Given the description of an element on the screen output the (x, y) to click on. 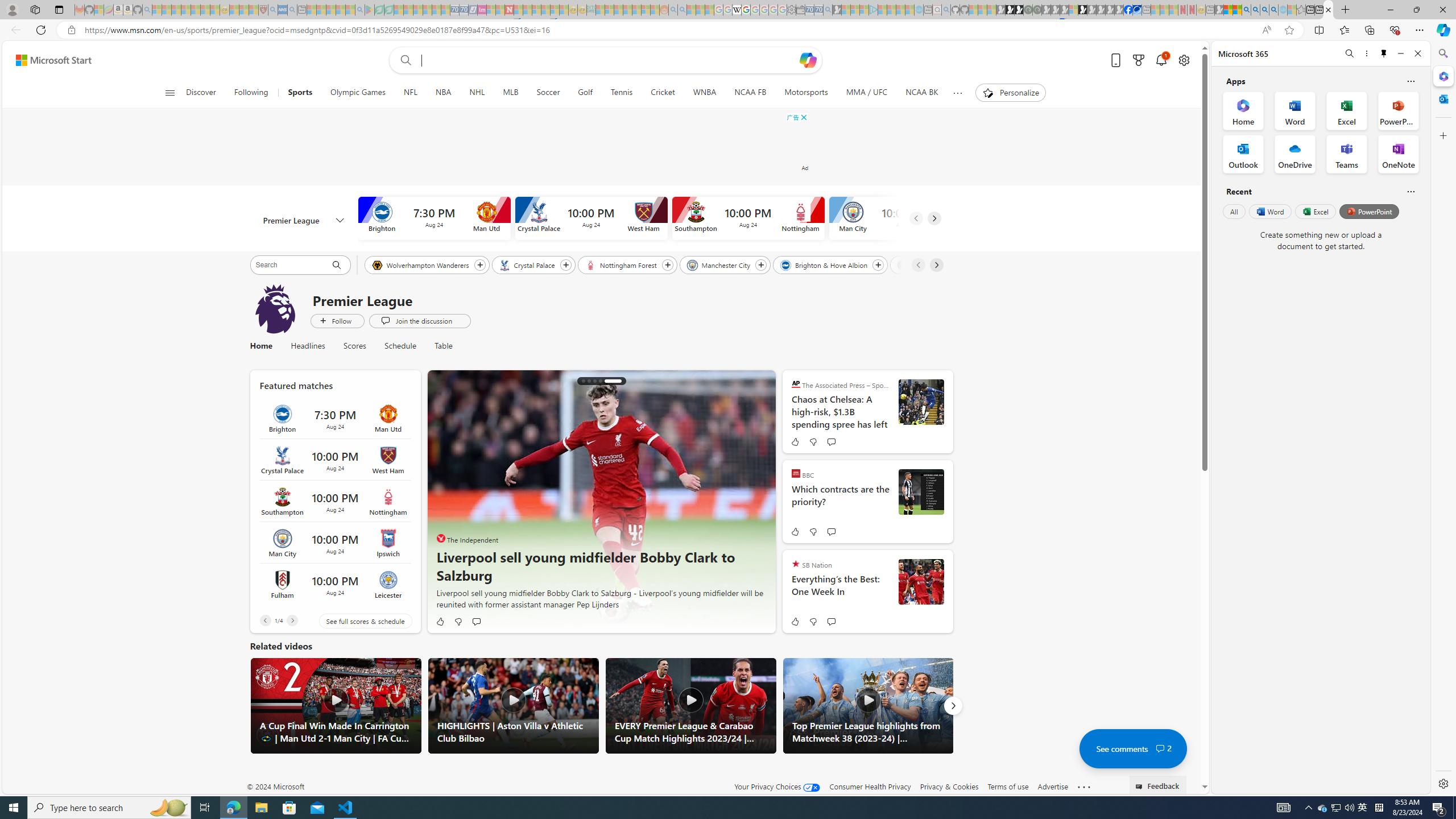
Favorites - Sleeping (1300, 9)
MLB (510, 92)
Motorsports (805, 92)
